Given the description of an element on the screen output the (x, y) to click on. 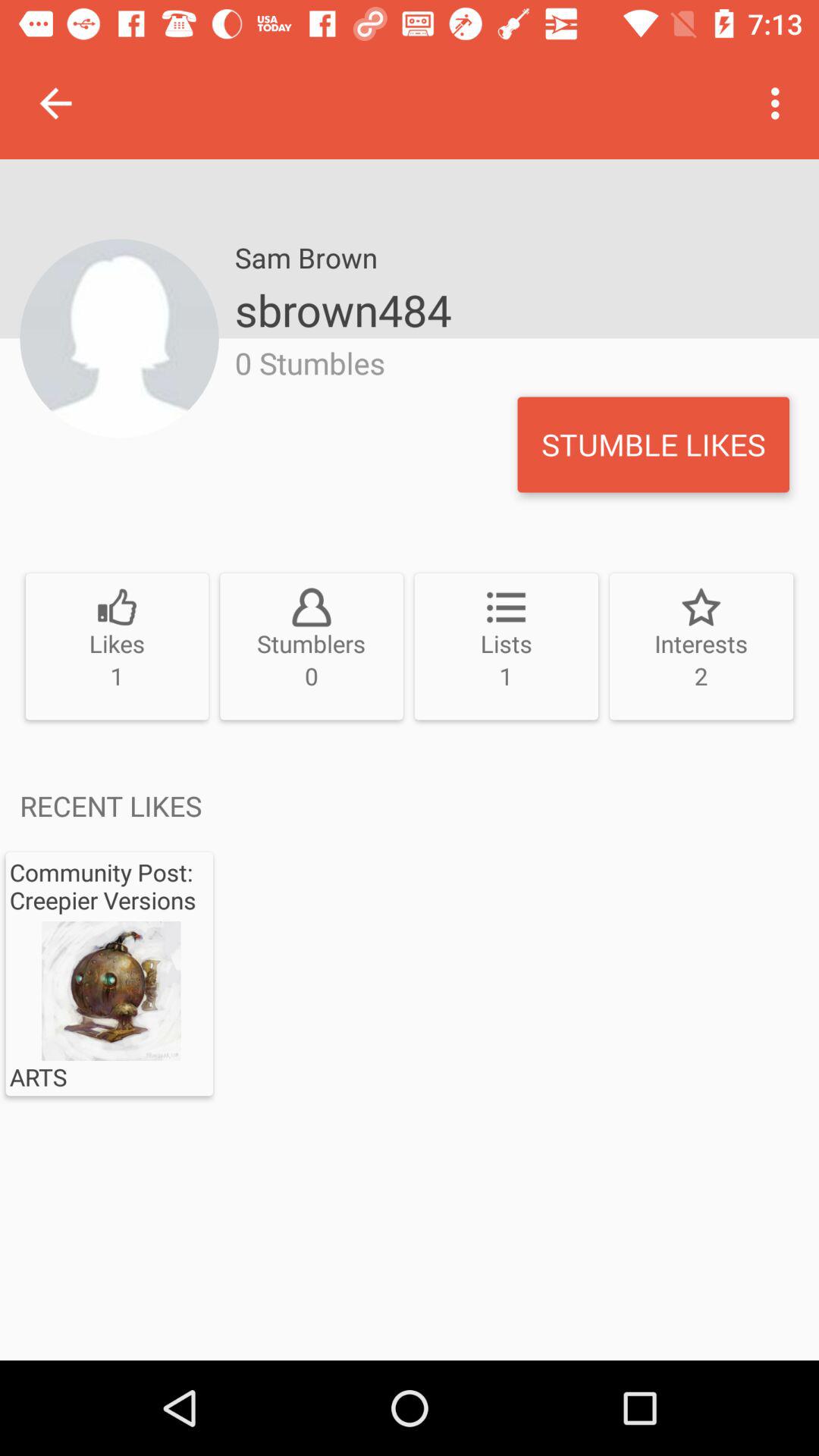
select stumble likes (653, 444)
